Given the description of an element on the screen output the (x, y) to click on. 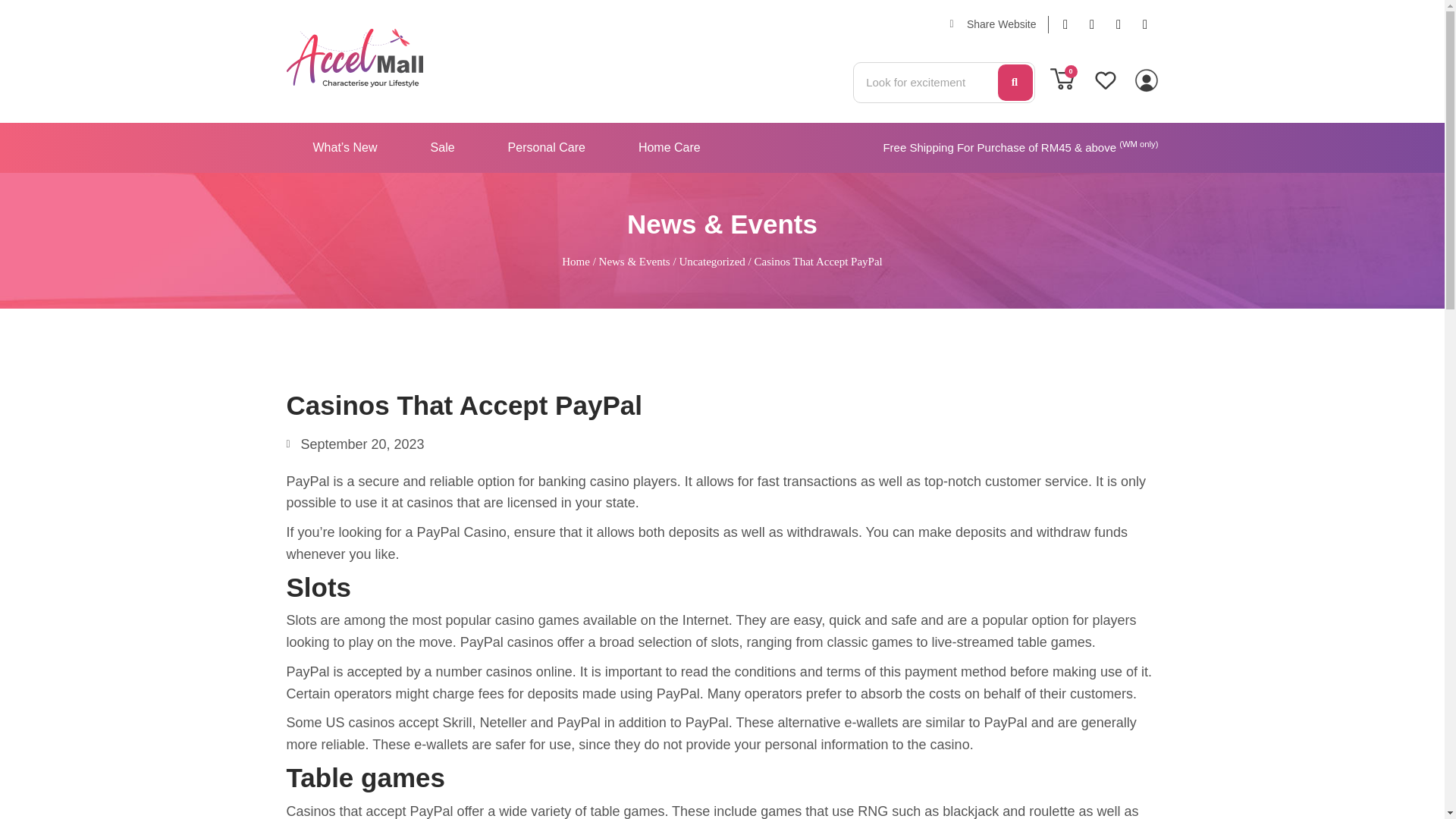
Sale (442, 147)
Go to Accel Mall. (575, 261)
Cart (1061, 79)
Go to the Uncategorized category archives. (711, 261)
Personal Care (546, 147)
Home Care (668, 147)
